Given the description of an element on the screen output the (x, y) to click on. 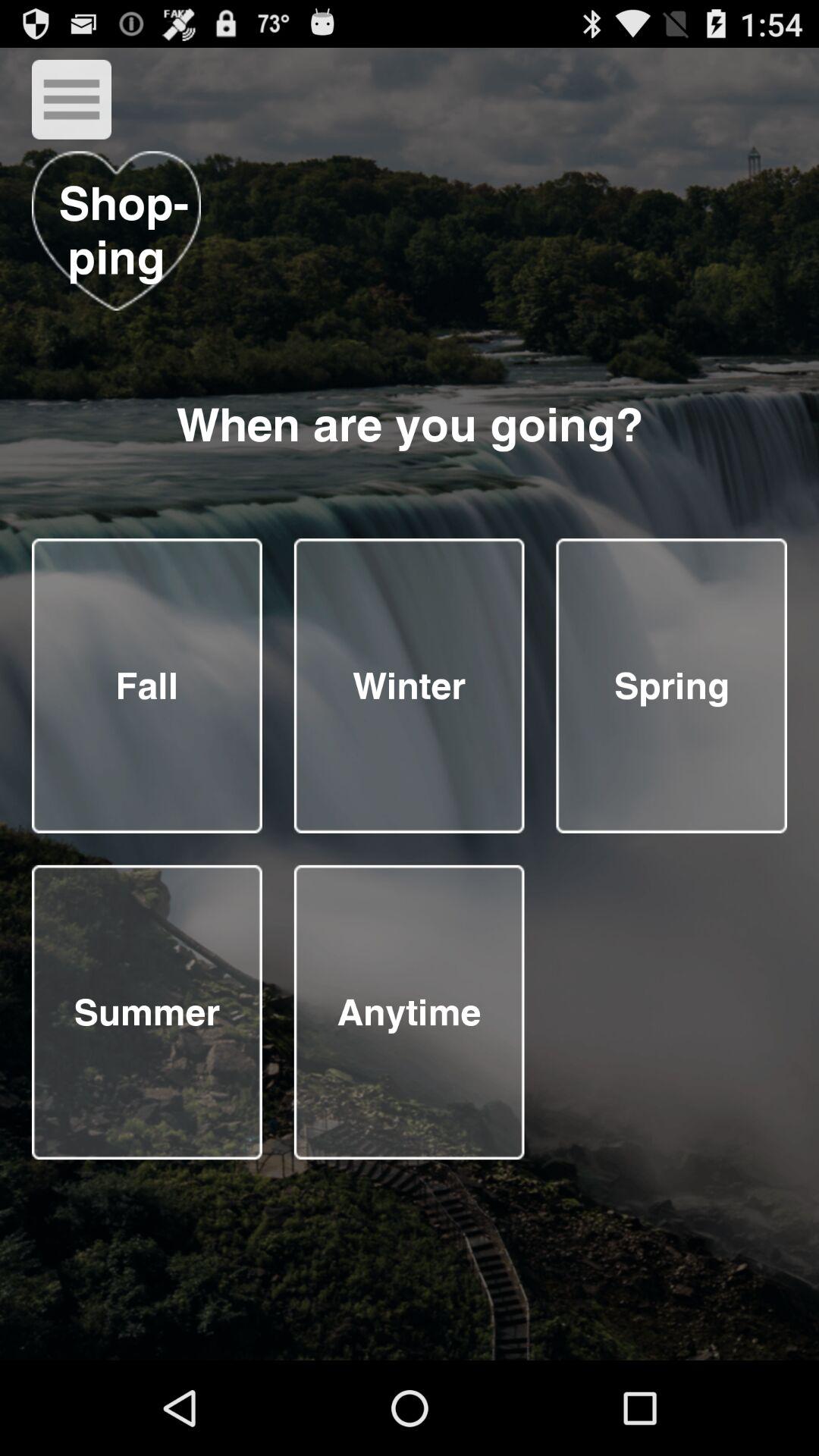
answer anytime (409, 1012)
